Given the description of an element on the screen output the (x, y) to click on. 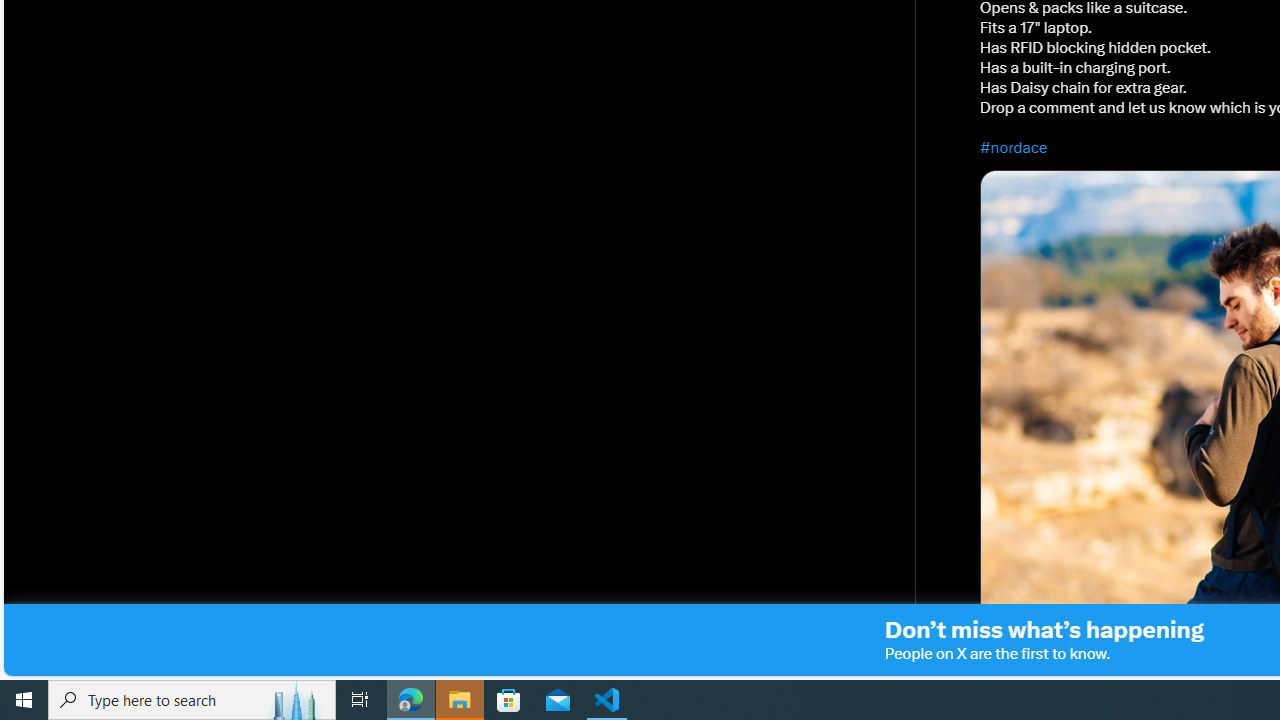
#nordace (1014, 147)
